Given the description of an element on the screen output the (x, y) to click on. 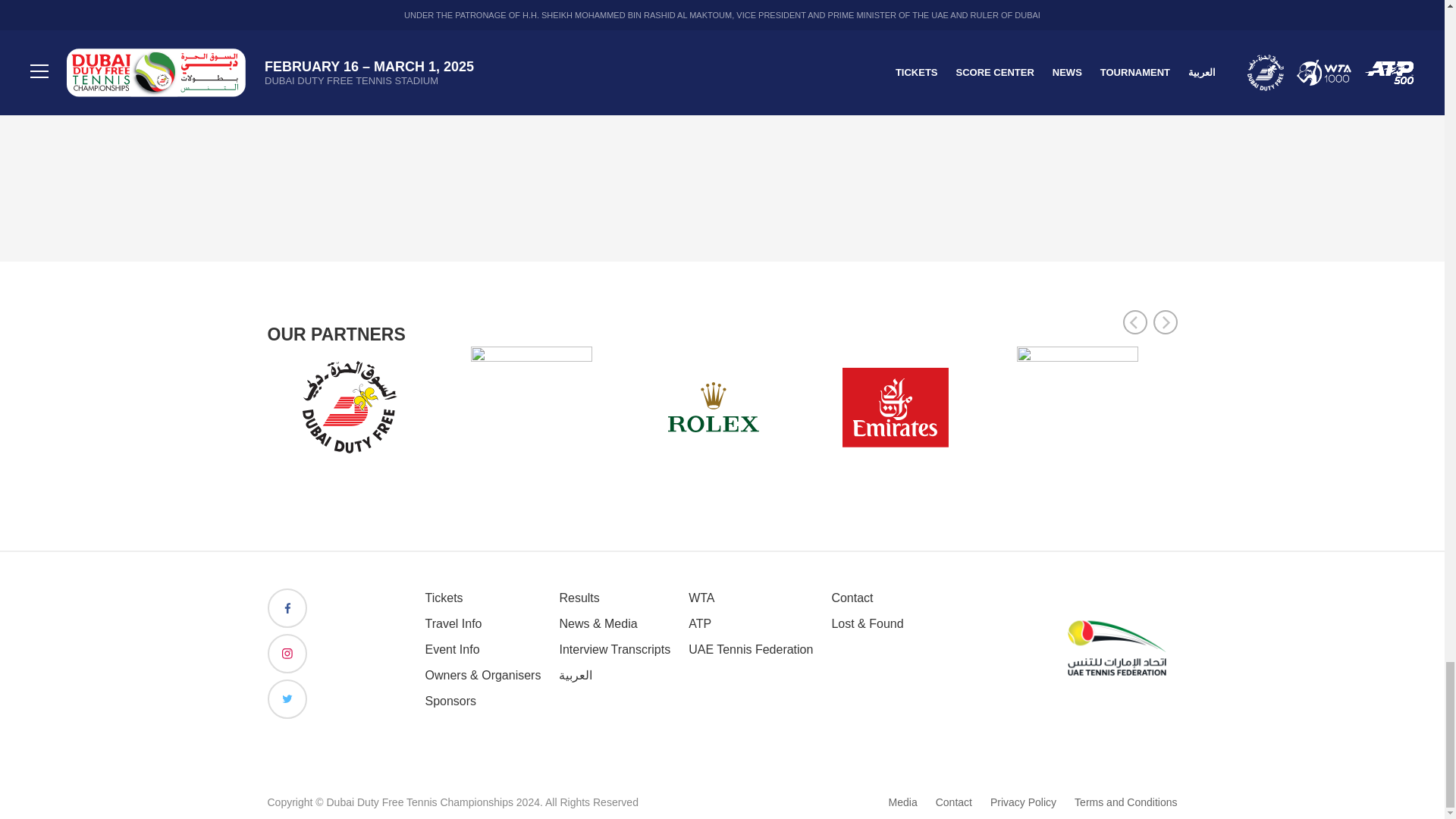
ArtboardCreated with Sketch. (1115, 649)
